Given the description of an element on the screen output the (x, y) to click on. 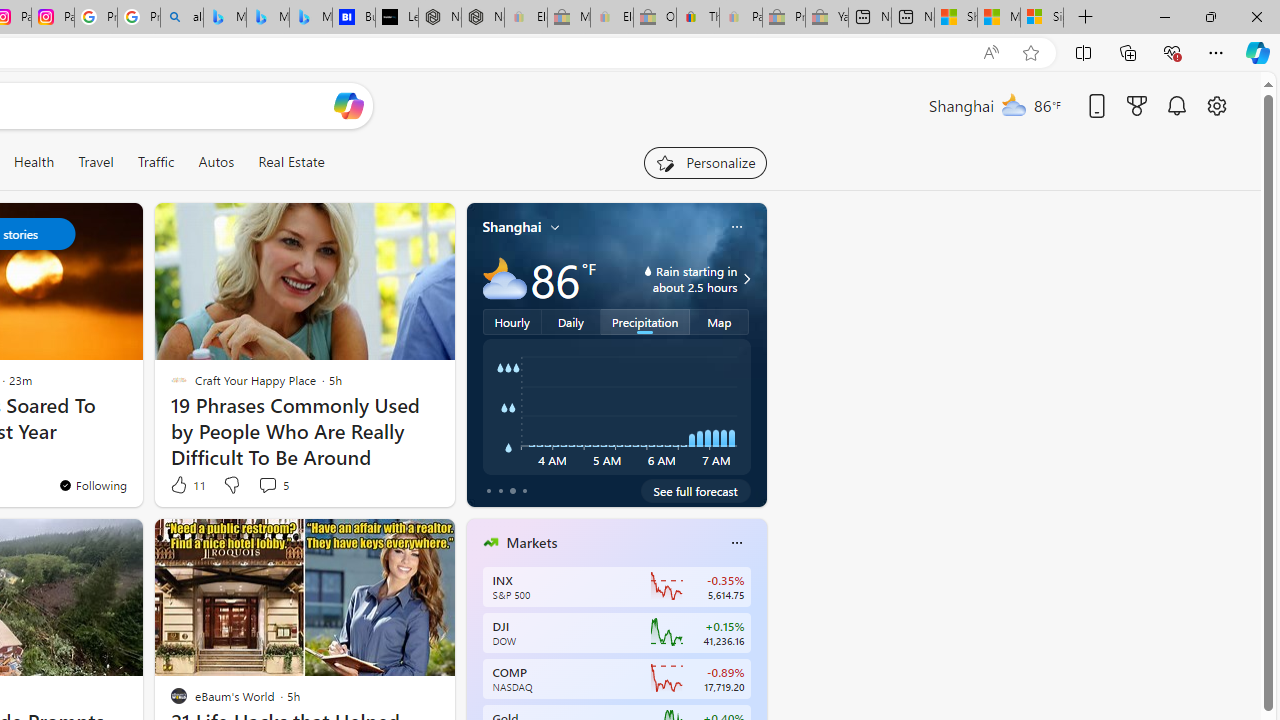
Precipitation (645, 321)
alabama high school quarterback dies - Search (182, 17)
My location (555, 227)
Shanghai, China hourly forecast | Microsoft Weather (955, 17)
See full forecast (695, 490)
Autos (216, 162)
This story is trending (393, 490)
